Given the description of an element on the screen output the (x, y) to click on. 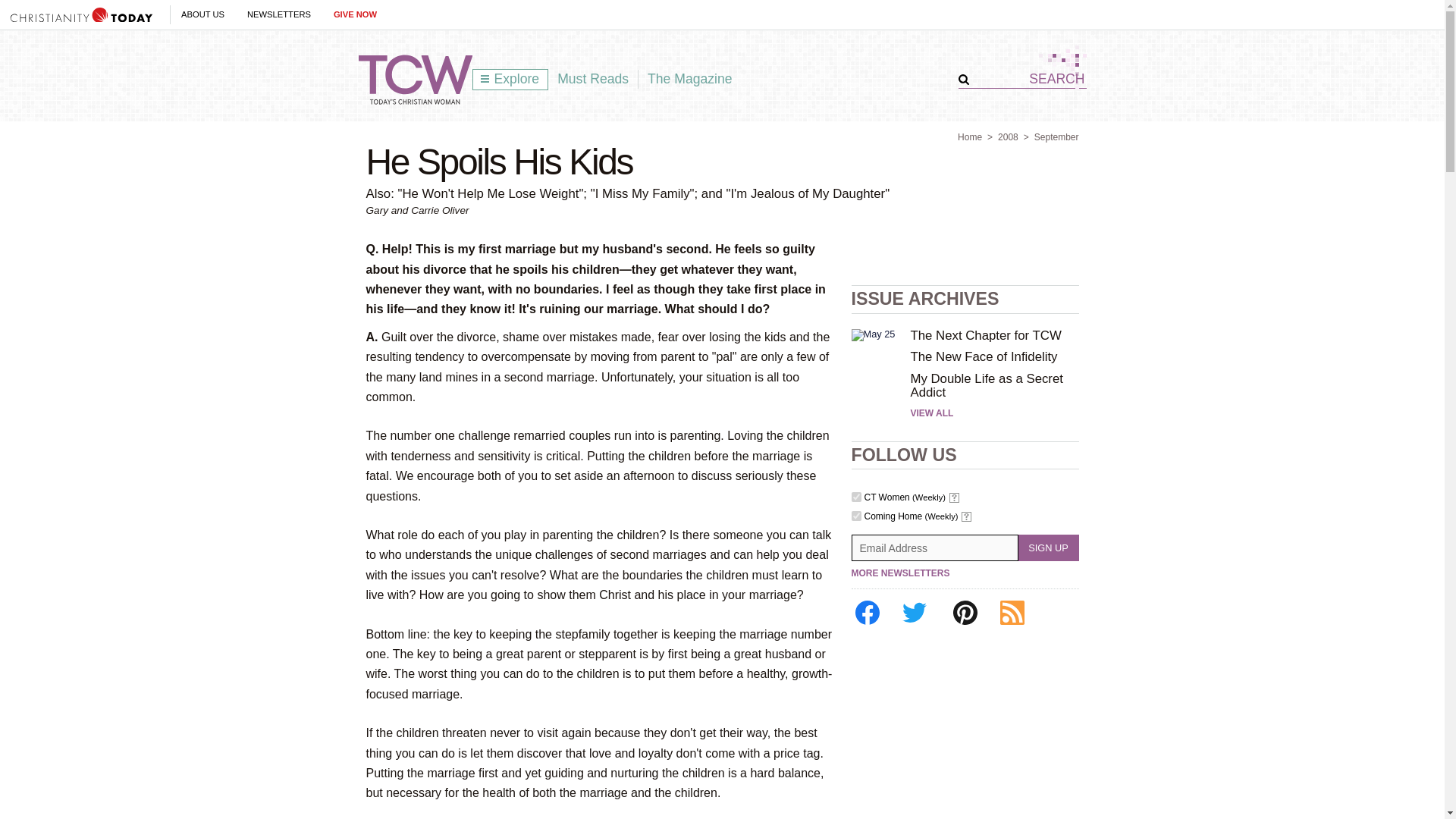
SEARCH (1027, 78)
ABOUT US (202, 14)
Today's Christian Woman (414, 79)
57 (855, 497)
Christianity Today (81, 14)
Sign Up (1047, 547)
45 (855, 515)
NEWSLETTERS (278, 14)
GIVE NOW (355, 14)
